Given the description of an element on the screen output the (x, y) to click on. 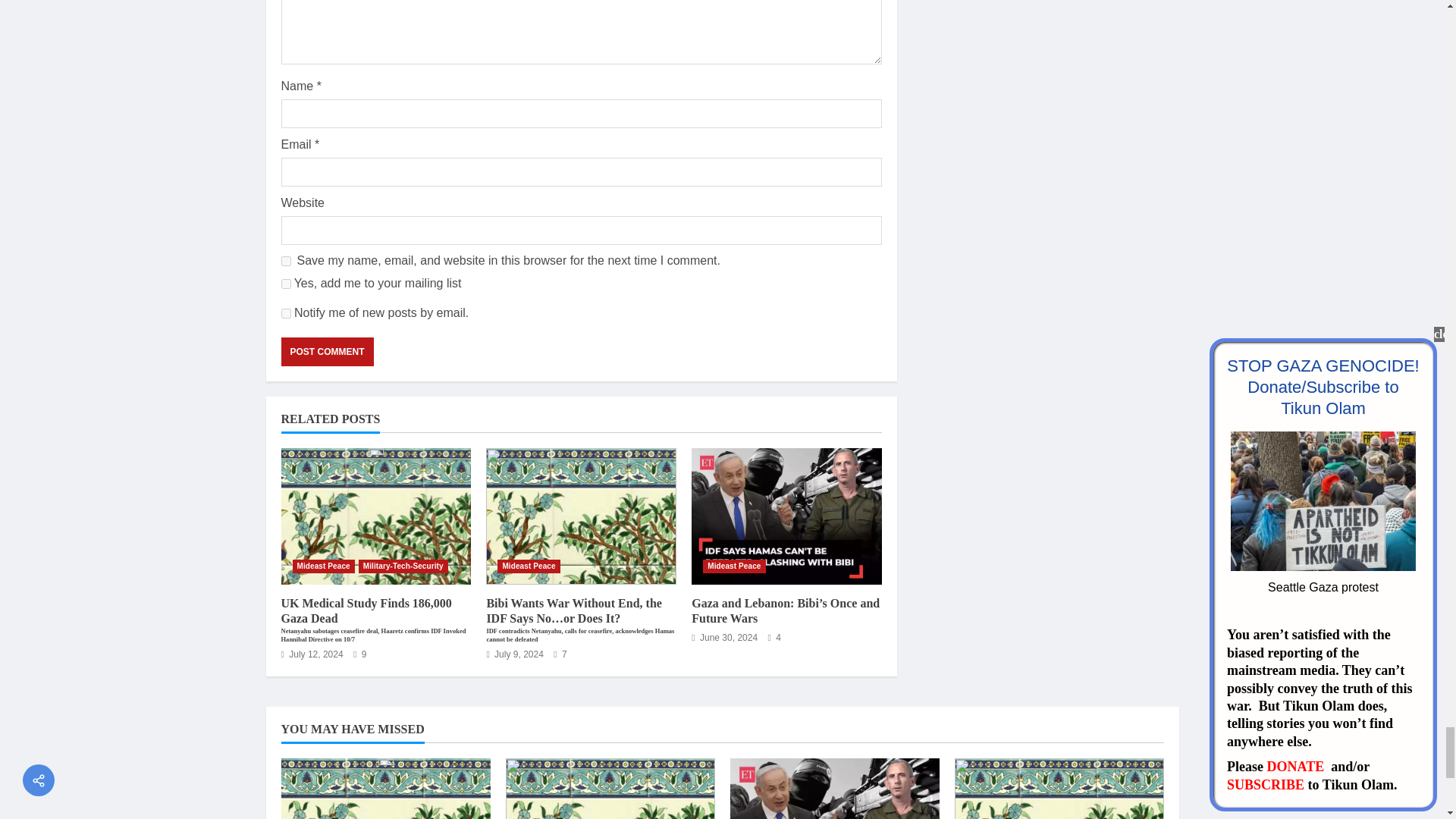
yes (285, 261)
Post Comment (326, 351)
subscribe (285, 313)
1 (285, 284)
